Given the description of an element on the screen output the (x, y) to click on. 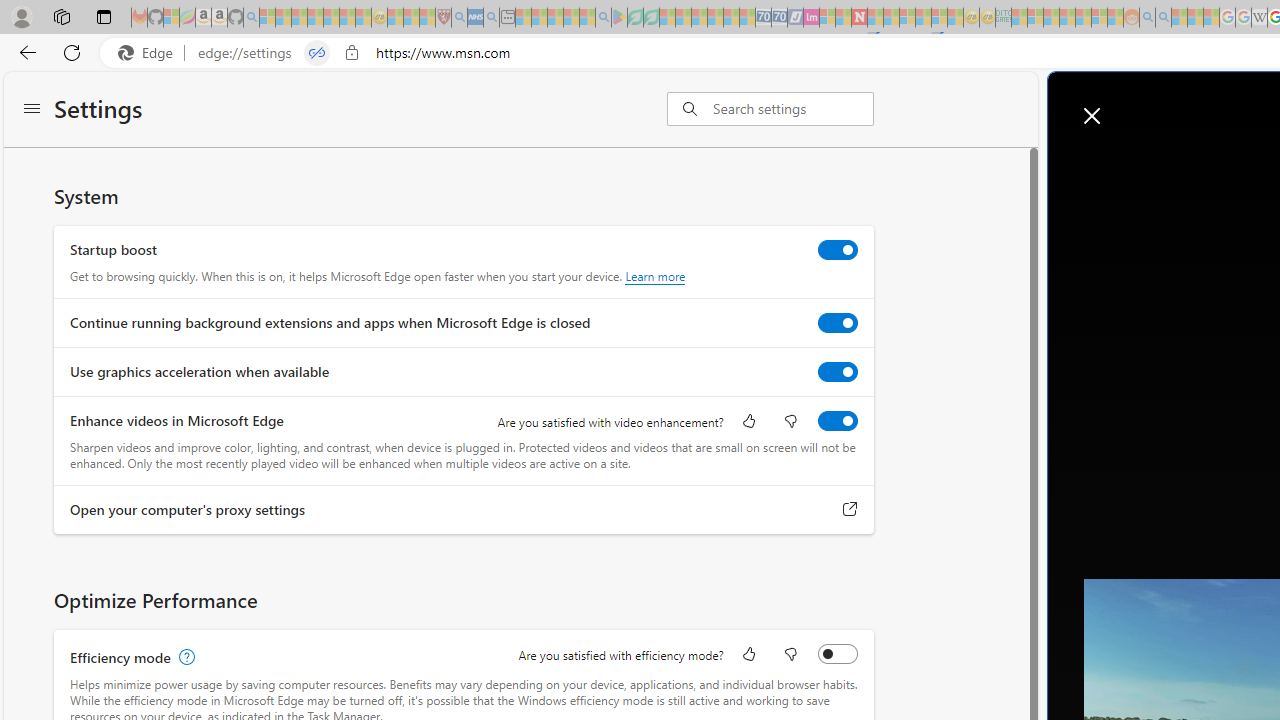
Efficiency mode, learn more (184, 657)
Like (748, 655)
Learn more (655, 276)
Target page - Wikipedia - Sleeping (1259, 17)
